Given the description of an element on the screen output the (x, y) to click on. 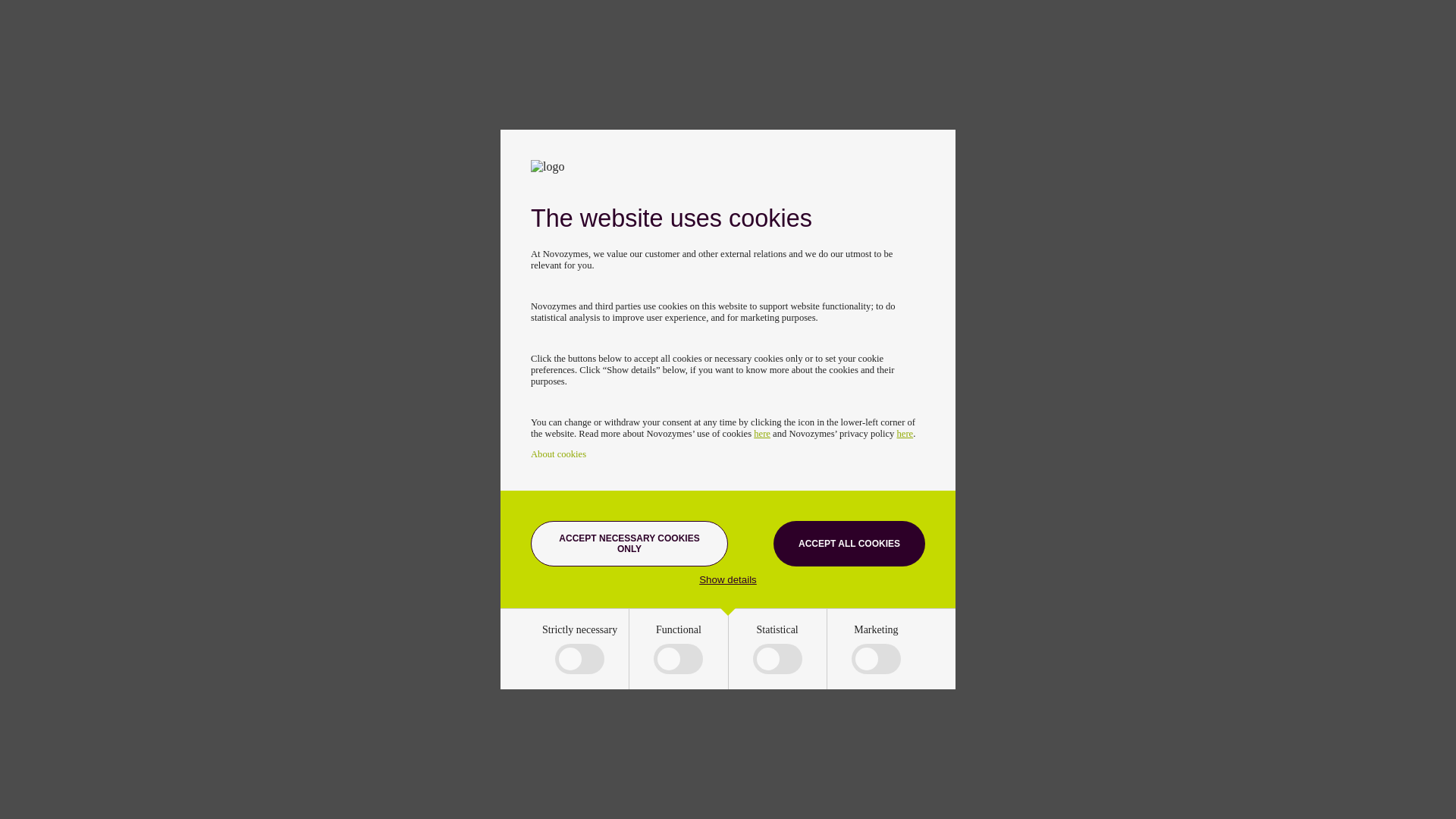
ACCEPT ALL COOKIES (848, 543)
About cookies (558, 453)
Show details (727, 579)
here (905, 433)
here (762, 433)
ACCEPT NECESSARY COOKIES ONLY (629, 543)
